Given the description of an element on the screen output the (x, y) to click on. 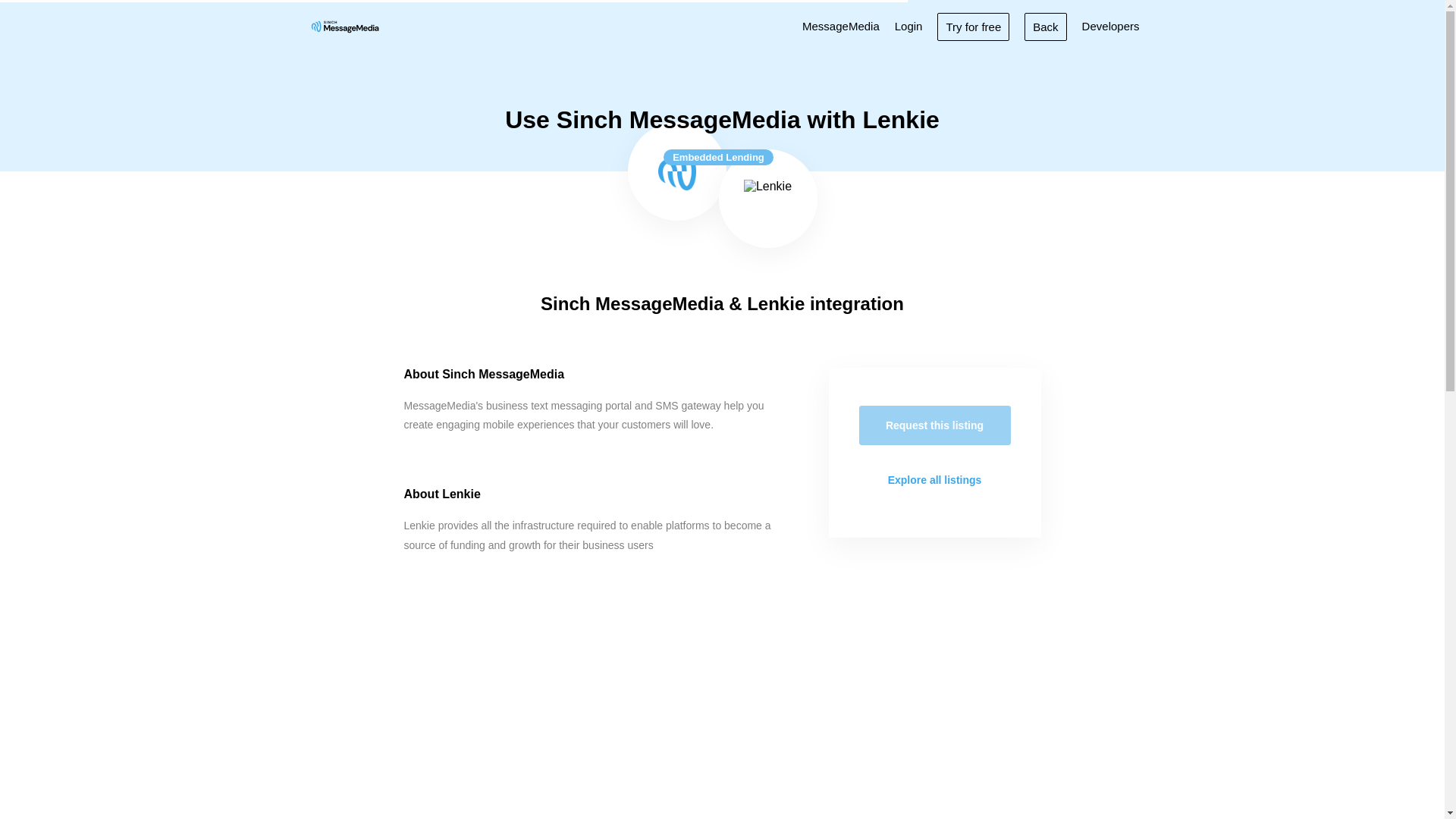
Request this listing (934, 425)
MessageMedia (840, 25)
Try for free (973, 26)
Lenkie (768, 198)
Login (909, 25)
Back (1045, 26)
Sinch MessageMedia (344, 26)
Explore all listings (934, 479)
Sinch MessageMedia (676, 171)
Developers (1110, 25)
